Given the description of an element on the screen output the (x, y) to click on. 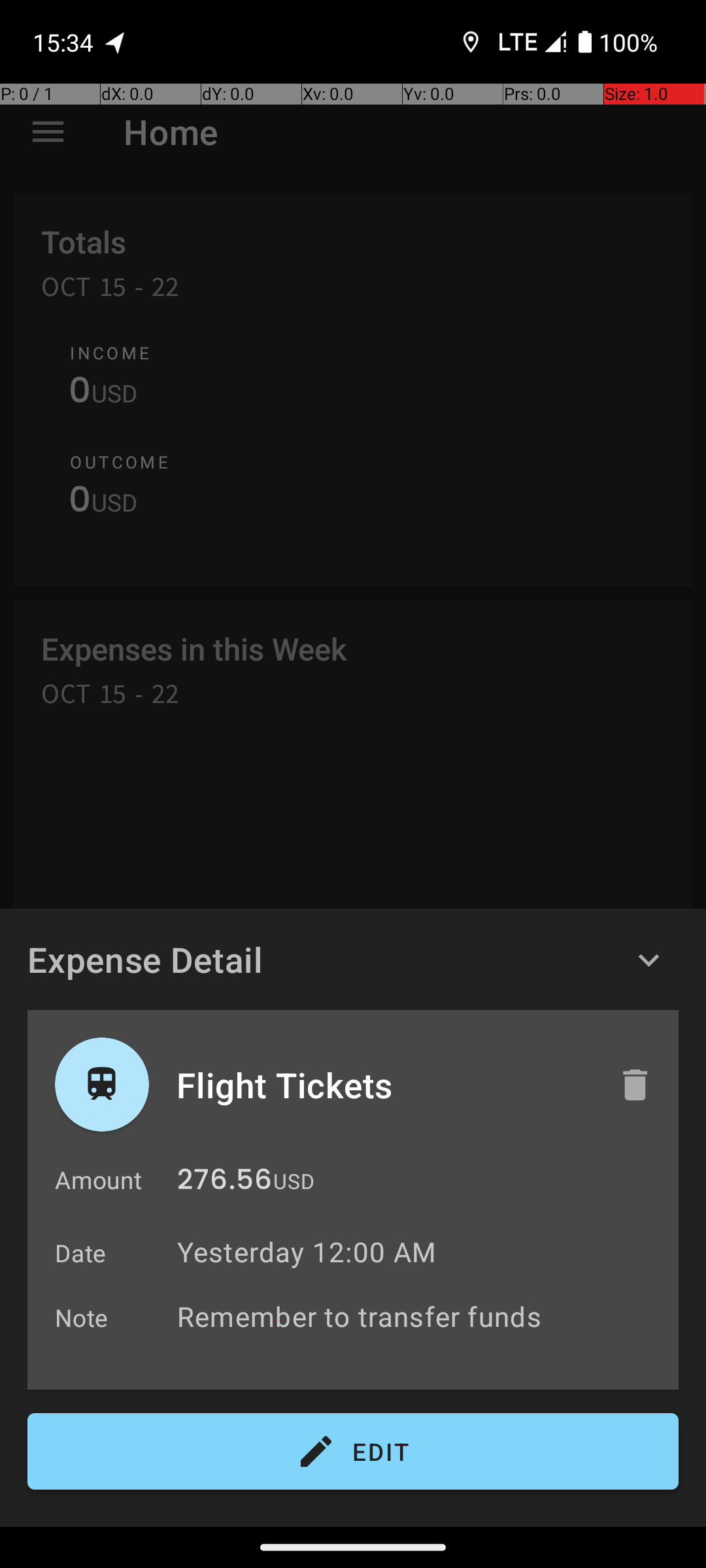
Flight Tickets Element type: android.widget.TextView (383, 1084)
276.56 Element type: android.widget.TextView (224, 1182)
Yesterday 12:00 AM Element type: android.widget.TextView (306, 1251)
